Given the description of an element on the screen output the (x, y) to click on. 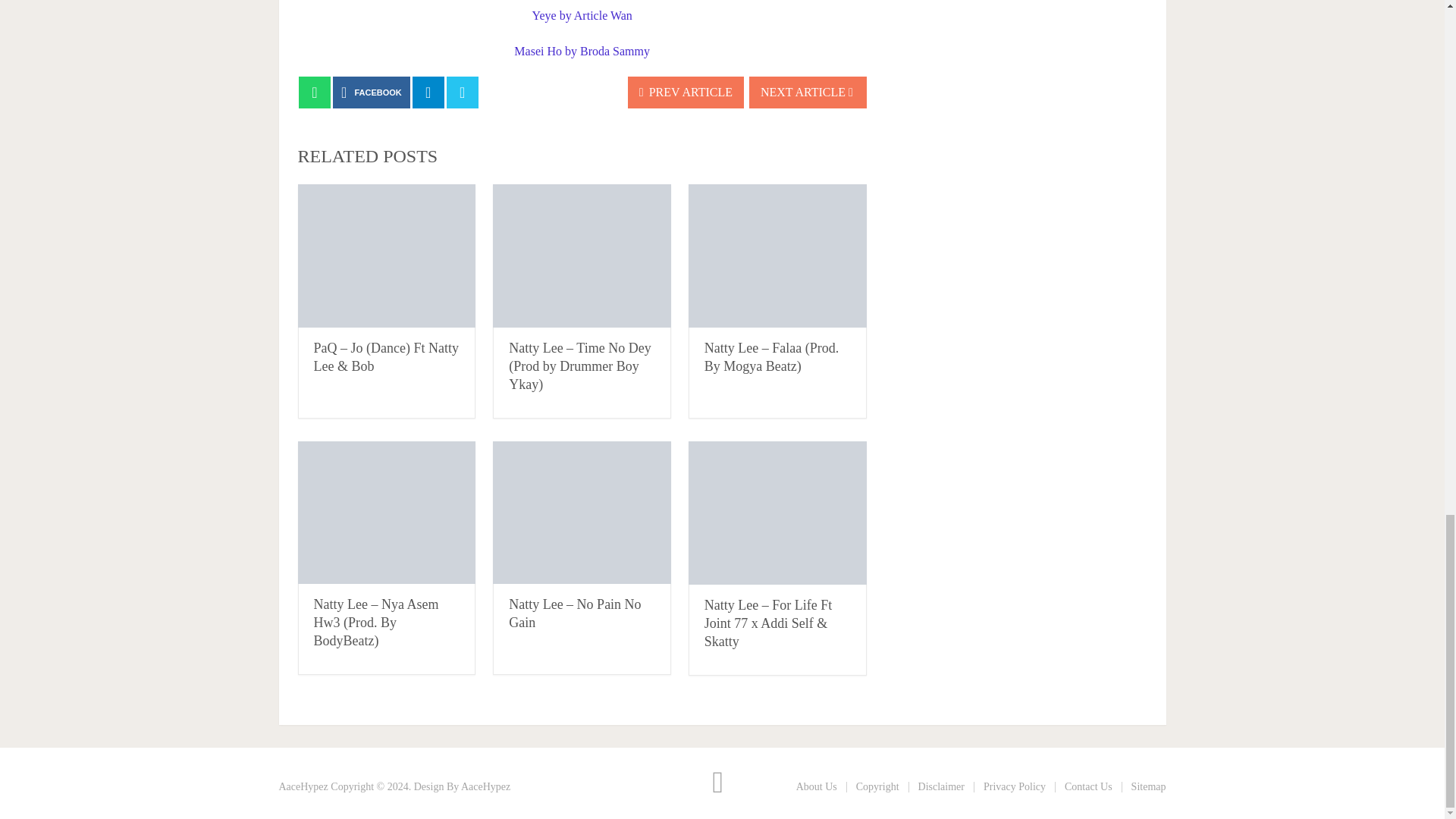
Yeye by Article Wan (581, 15)
FACEBOOK (371, 92)
Masei Ho by Broda Sammy (581, 51)
